Given the description of an element on the screen output the (x, y) to click on. 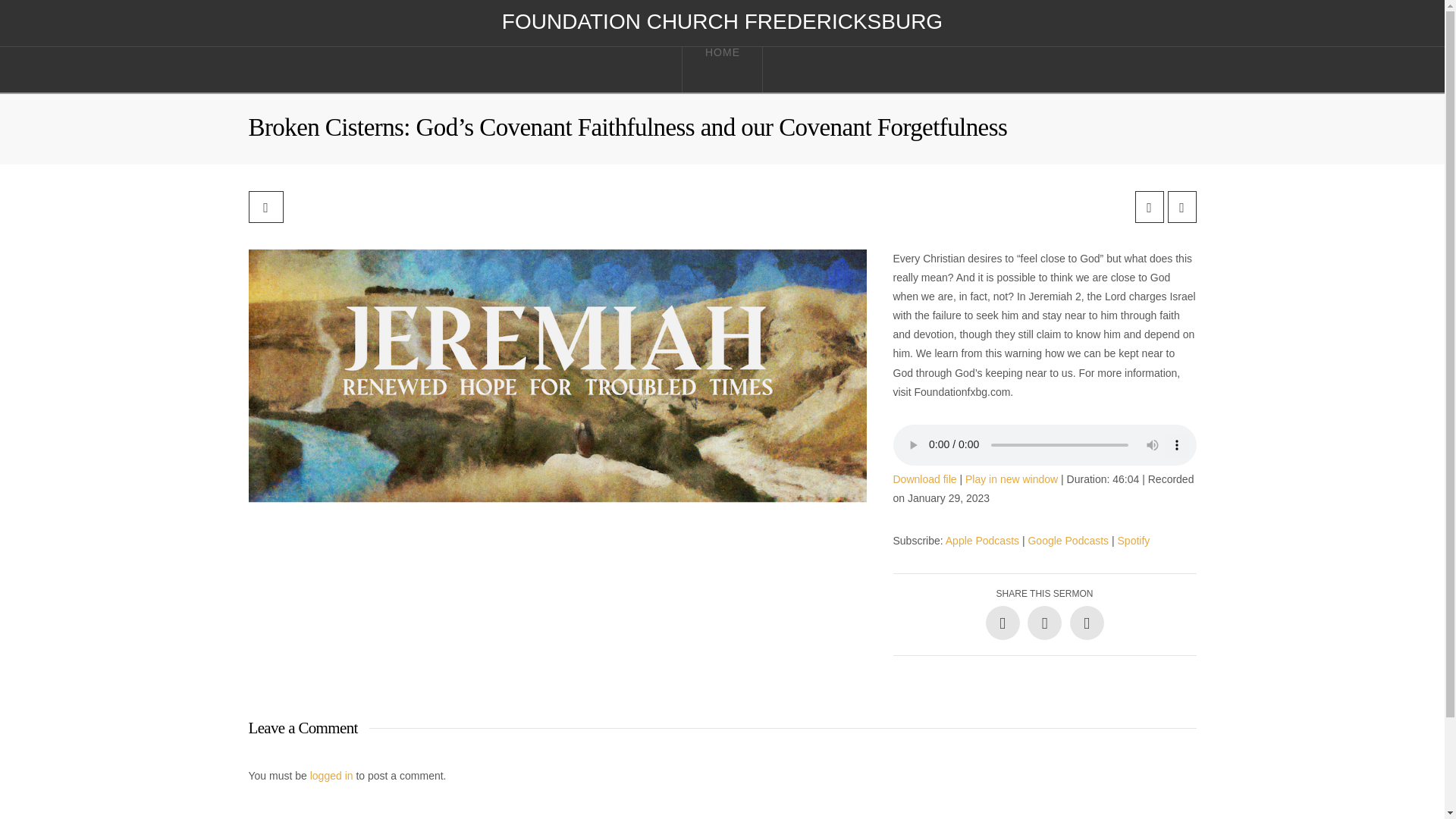
Spotify (1134, 540)
Google Podcasts (1067, 540)
Share via Email (1085, 622)
Share on Twitter (1044, 622)
logged in (331, 775)
Apple Podcasts (981, 540)
Google Podcasts (1067, 540)
Spotify (1134, 540)
FOUNDATION CHURCH FREDERICKSBURG (722, 21)
Share on Facebook (1002, 622)
